Given the description of an element on the screen output the (x, y) to click on. 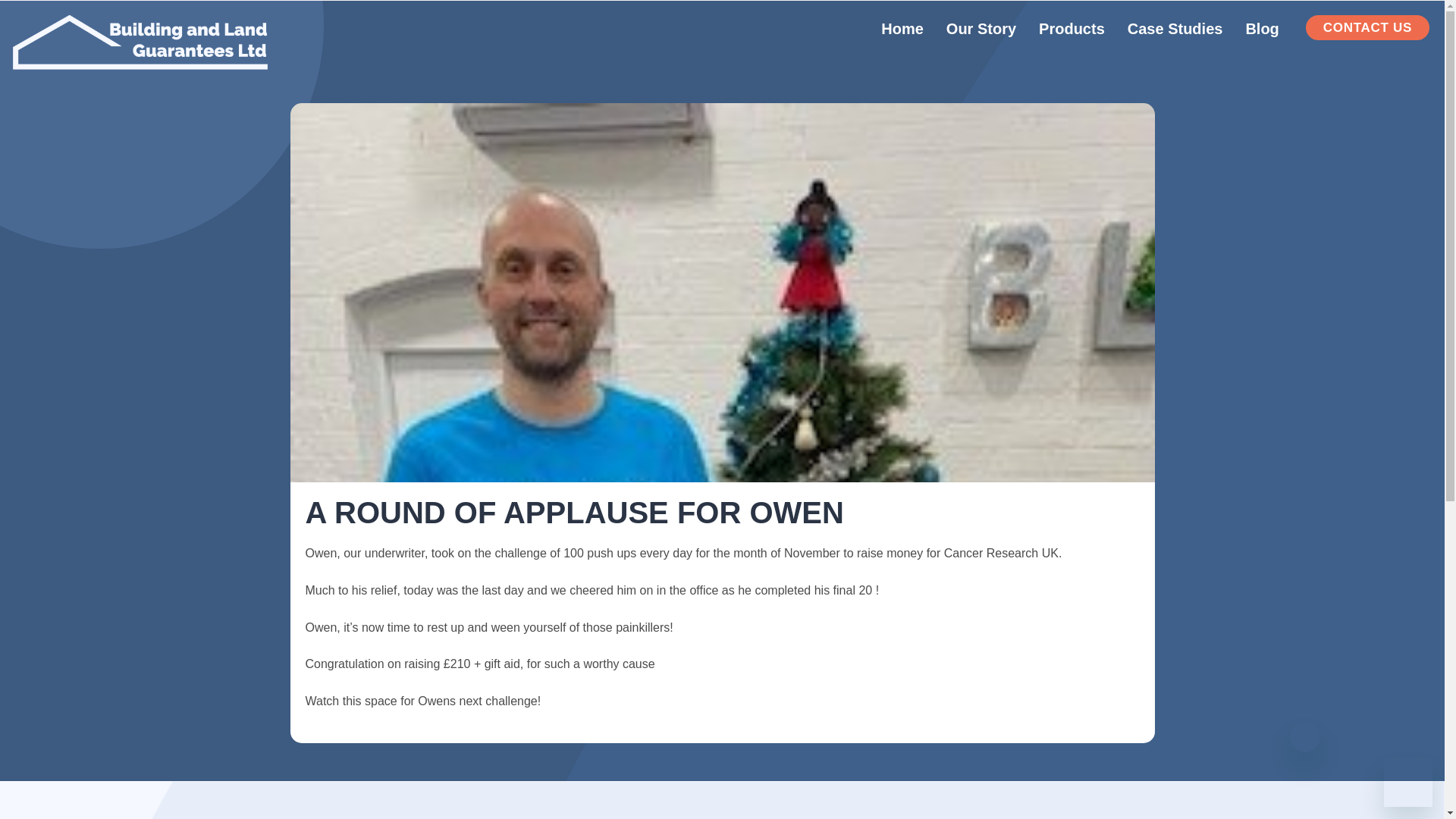
Case Studies (1175, 28)
Products (1071, 28)
Home (901, 28)
Blog (1261, 28)
CONTACT US (1367, 27)
Our Story (980, 28)
